Given the description of an element on the screen output the (x, y) to click on. 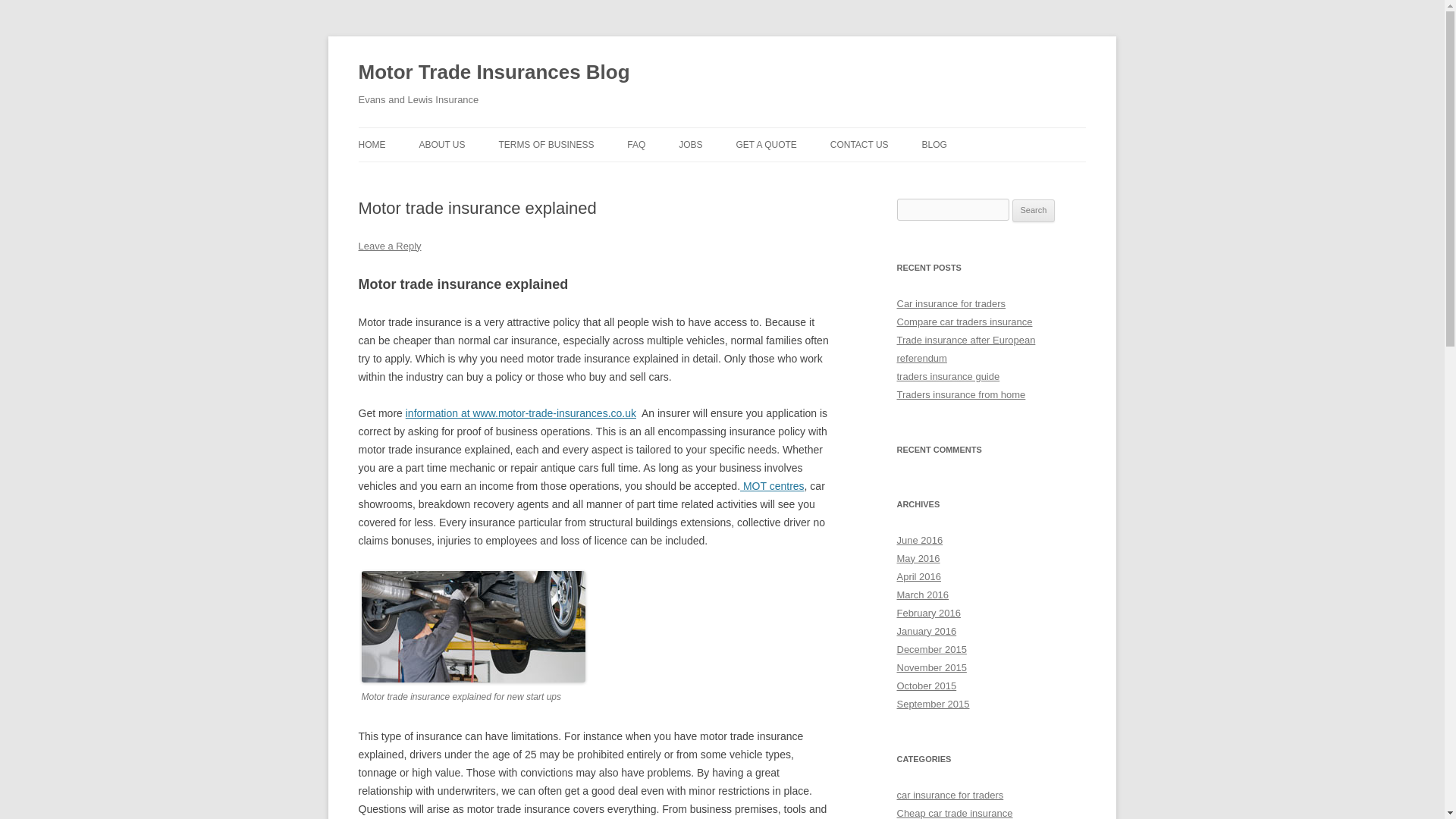
Trade insurance after European referendum (965, 348)
Traders insurance from home (960, 394)
Motor Trade Insurances Blog (493, 72)
October 2015 (926, 685)
CONTACT US (858, 144)
TERMS OF BUSINESS (545, 144)
Car insurance for traders (951, 303)
ABOUT US (441, 144)
January 2016 (926, 631)
Search (1033, 210)
Leave a Reply (389, 245)
March 2016 (922, 594)
information at www.motor-trade-insurances.co.uk (521, 413)
June 2016 (919, 540)
December 2015 (931, 649)
